Given the description of an element on the screen output the (x, y) to click on. 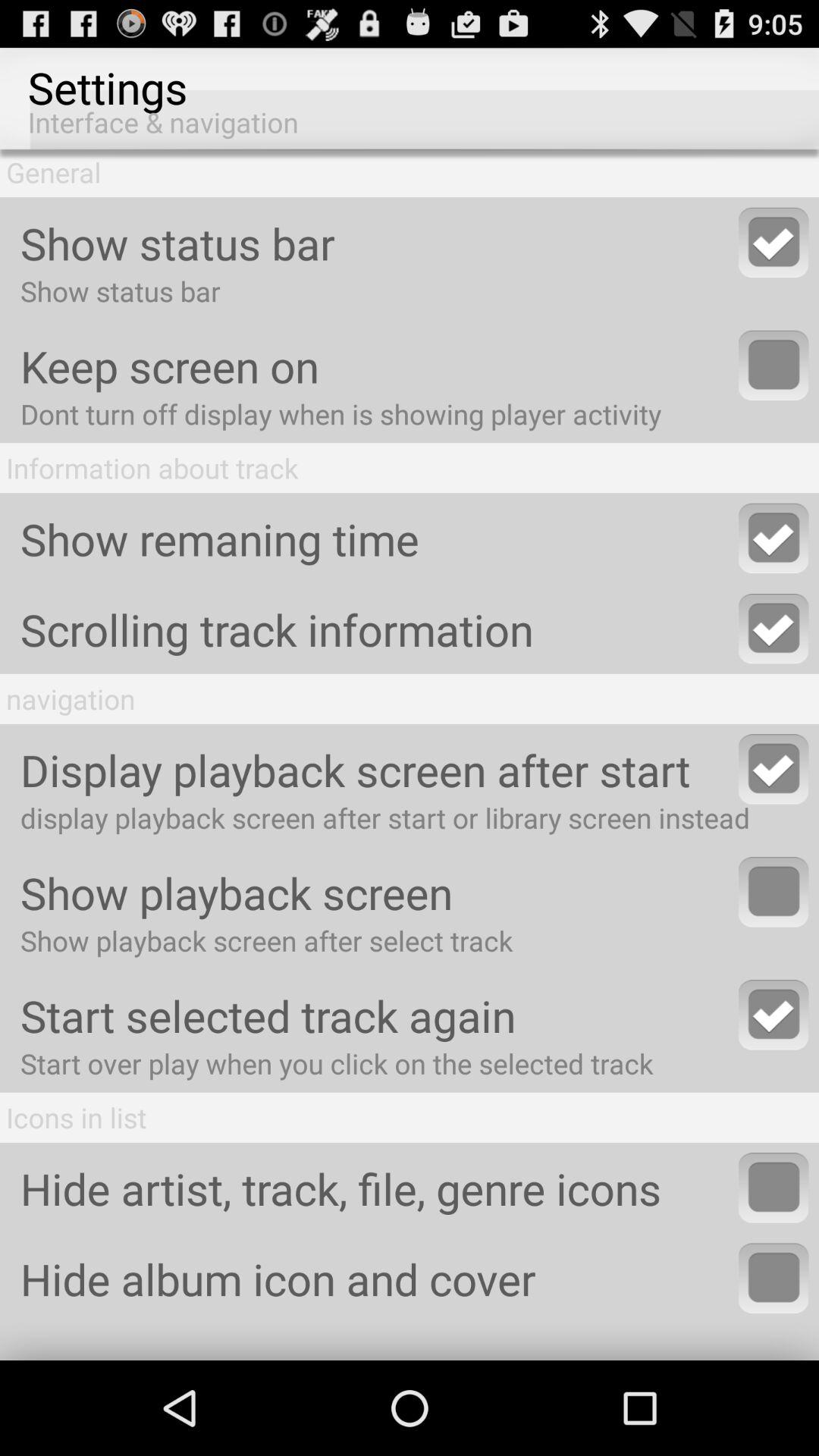
display playback screen after start (773, 769)
